Given the description of an element on the screen output the (x, y) to click on. 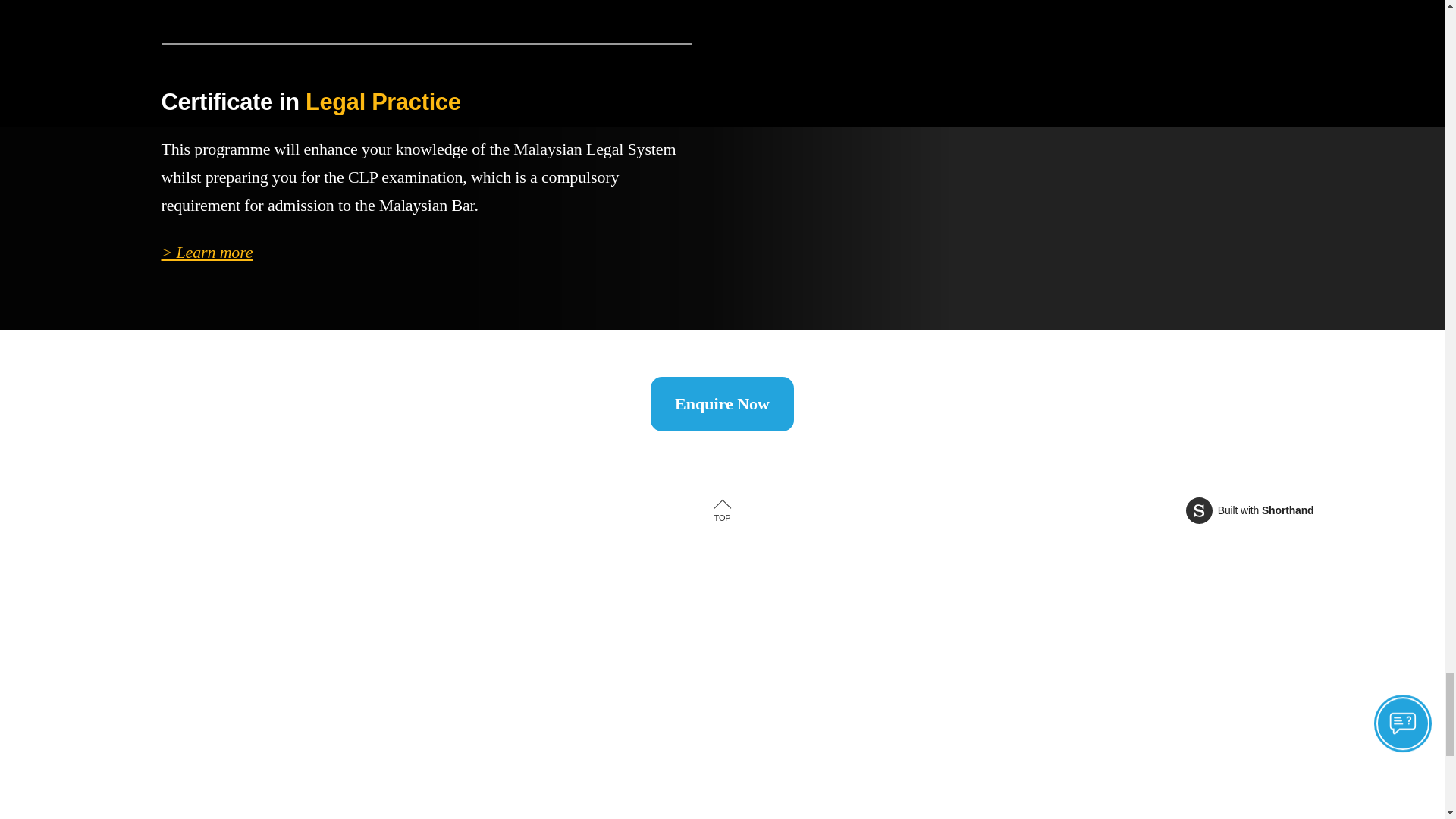
Enquire Now (721, 403)
TOP (721, 511)
